Given the description of an element on the screen output the (x, y) to click on. 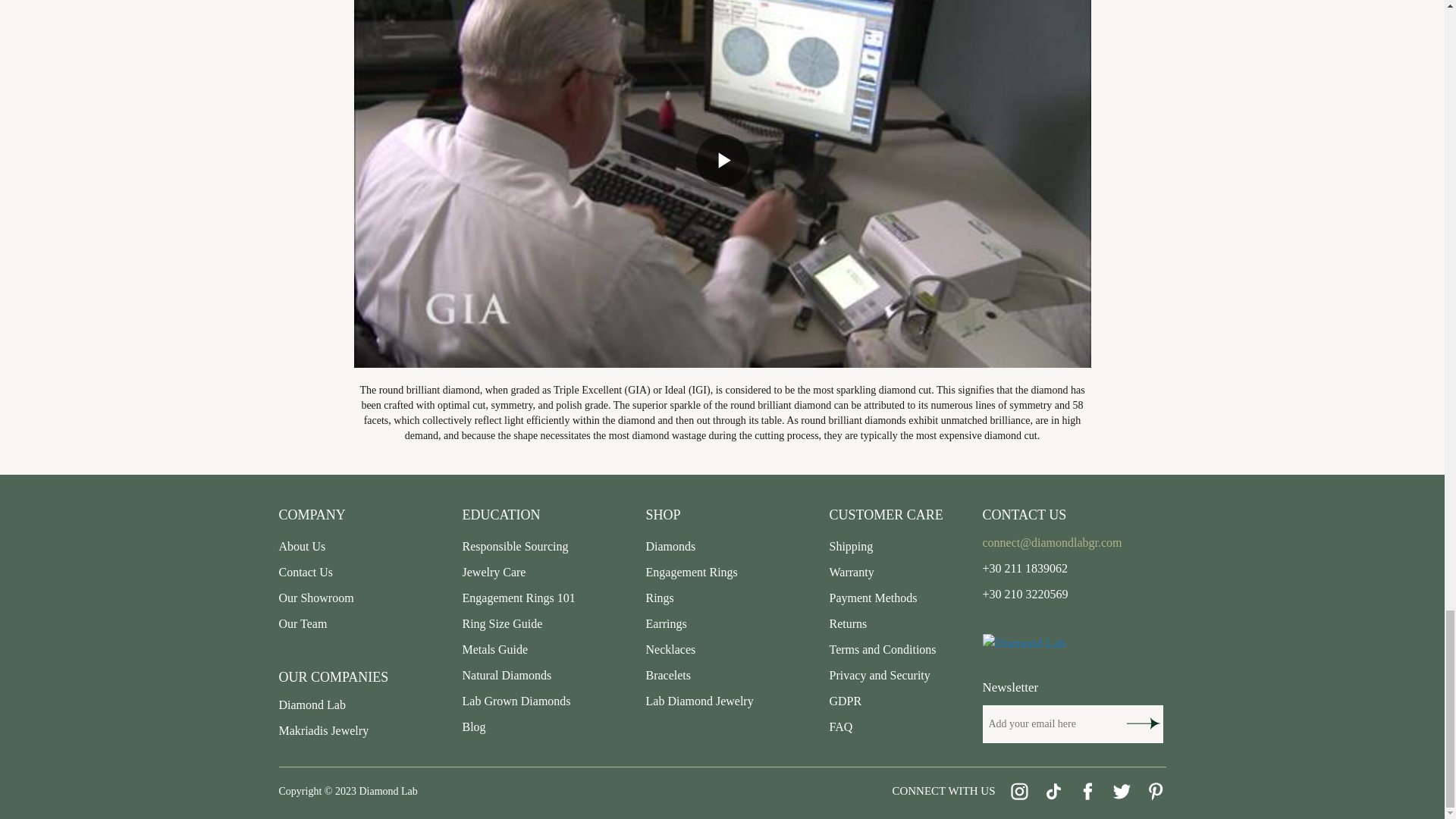
Call Us (1025, 594)
Call Us (1024, 567)
Email Us (1052, 542)
